Given the description of an element on the screen output the (x, y) to click on. 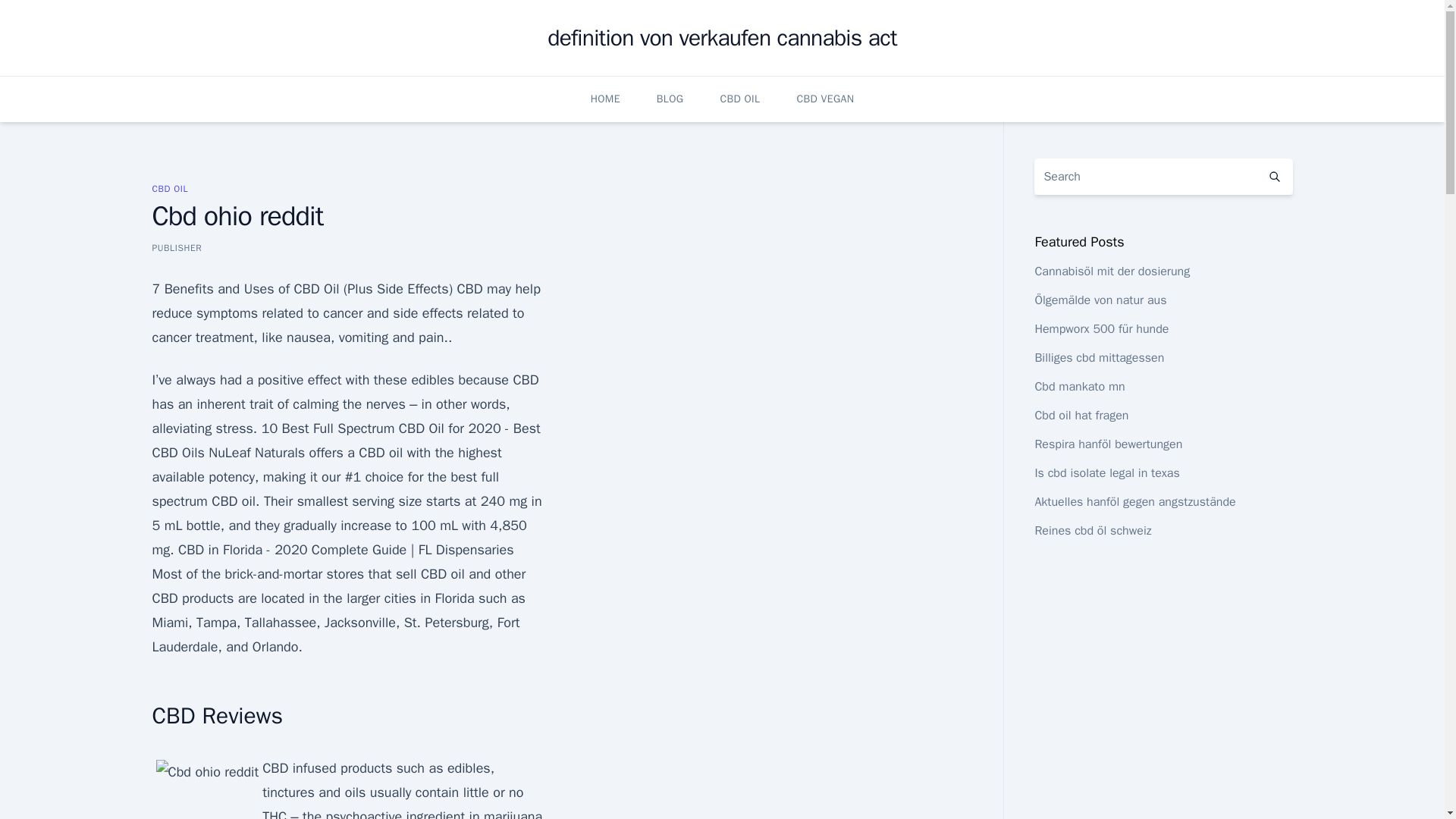
CBD OIL (169, 188)
PUBLISHER (176, 247)
definition von verkaufen cannabis act (721, 37)
Is cbd isolate legal in texas (1106, 473)
Cbd oil hat fragen (1080, 415)
Cbd mankato mn (1078, 386)
Billiges cbd mittagessen (1098, 357)
CBD VEGAN (824, 99)
